Given the description of an element on the screen output the (x, y) to click on. 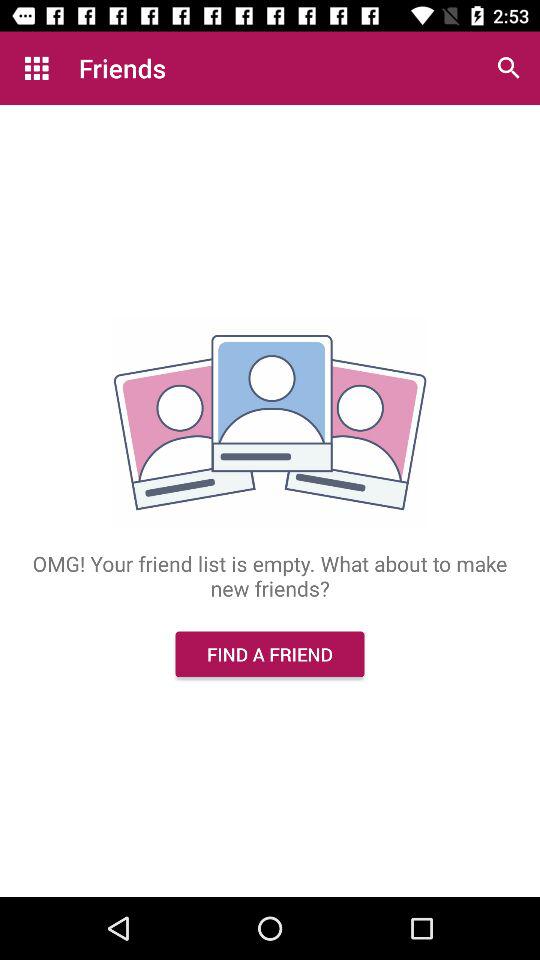
select icon to the right of the friends app (508, 67)
